Given the description of an element on the screen output the (x, y) to click on. 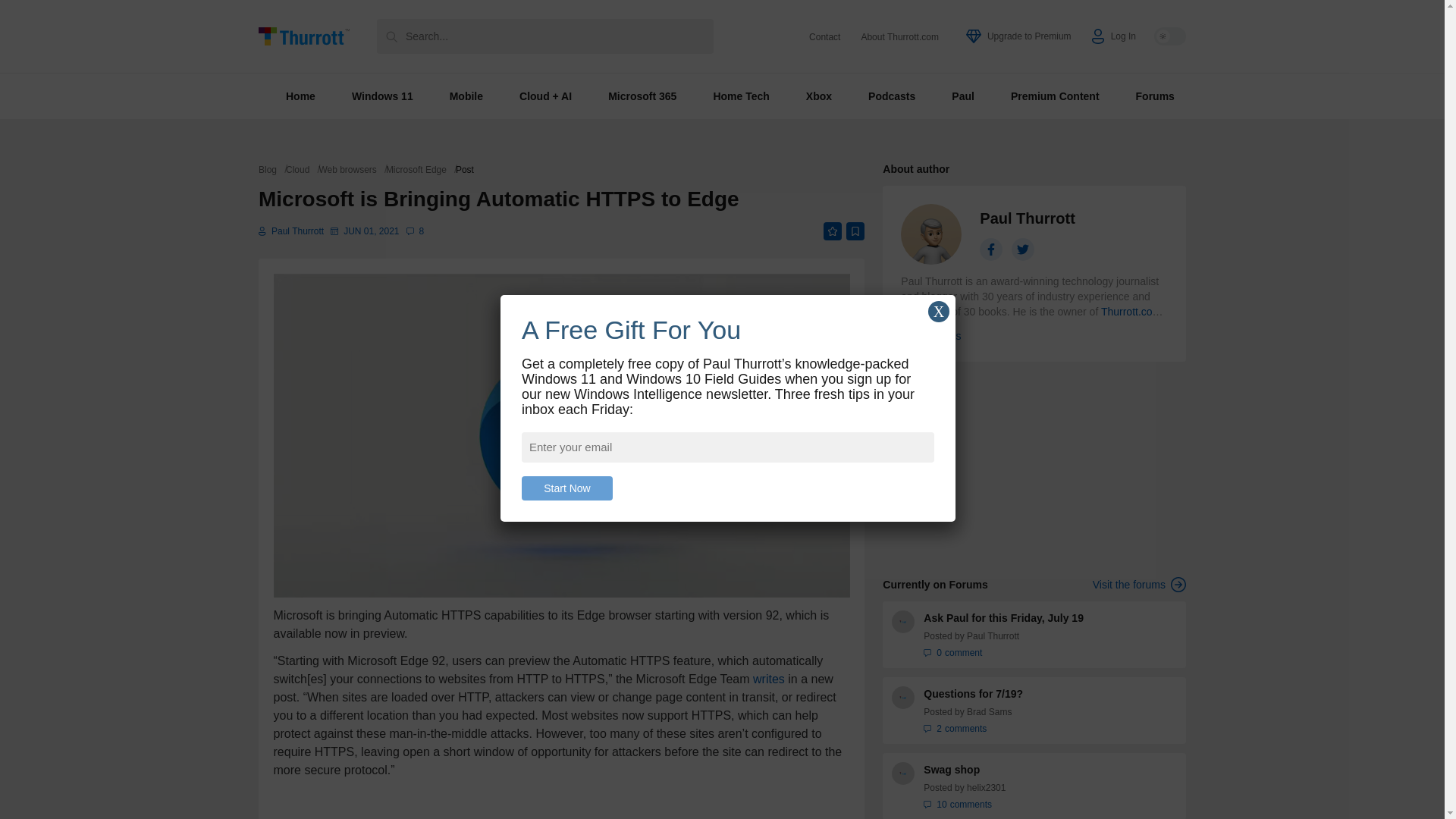
Home (300, 95)
Mobile (466, 95)
Windows 11 (382, 95)
Upgrade to Premium (1018, 36)
Home Tech (740, 95)
Contact (824, 36)
Microsoft 365 (641, 95)
Start Now (566, 487)
Log In (1113, 36)
About Thurrott.com (899, 36)
